Given the description of an element on the screen output the (x, y) to click on. 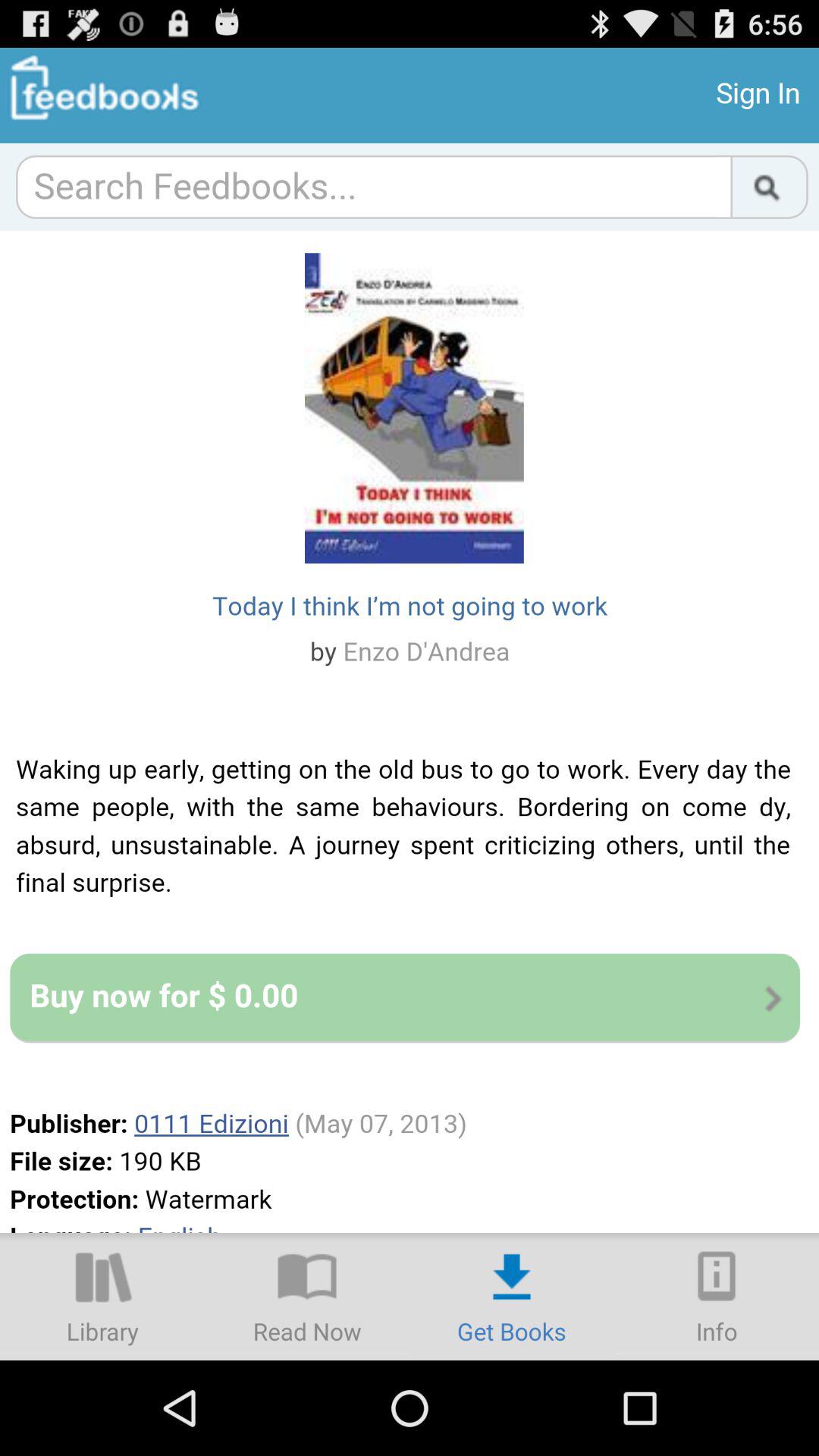
read now (306, 1296)
